Given the description of an element on the screen output the (x, y) to click on. 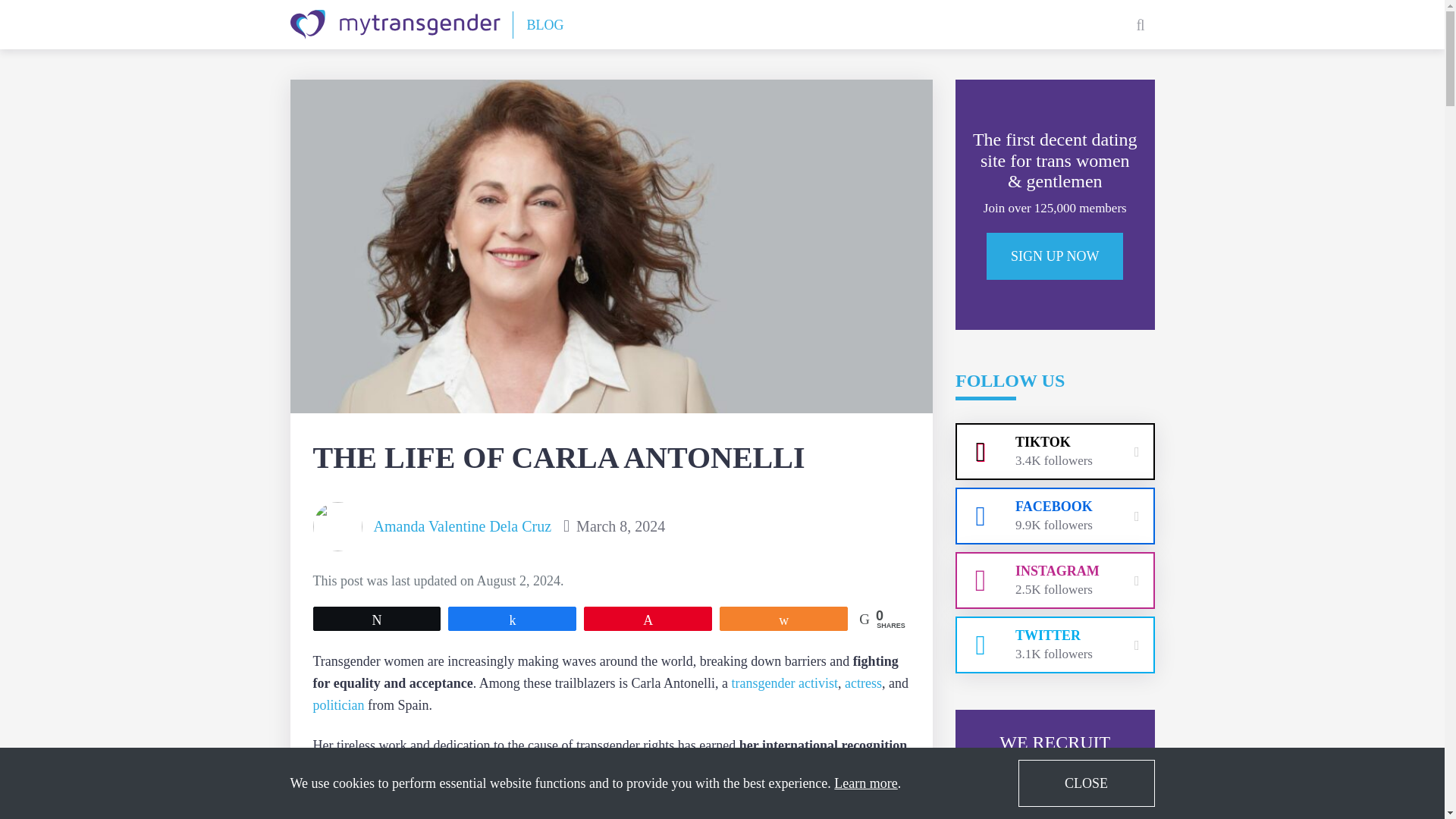
transgender activist (785, 683)
Amanda Valentine Dela Cruz (461, 525)
actress (863, 683)
politician (338, 705)
BLOG (544, 23)
